Given the description of an element on the screen output the (x, y) to click on. 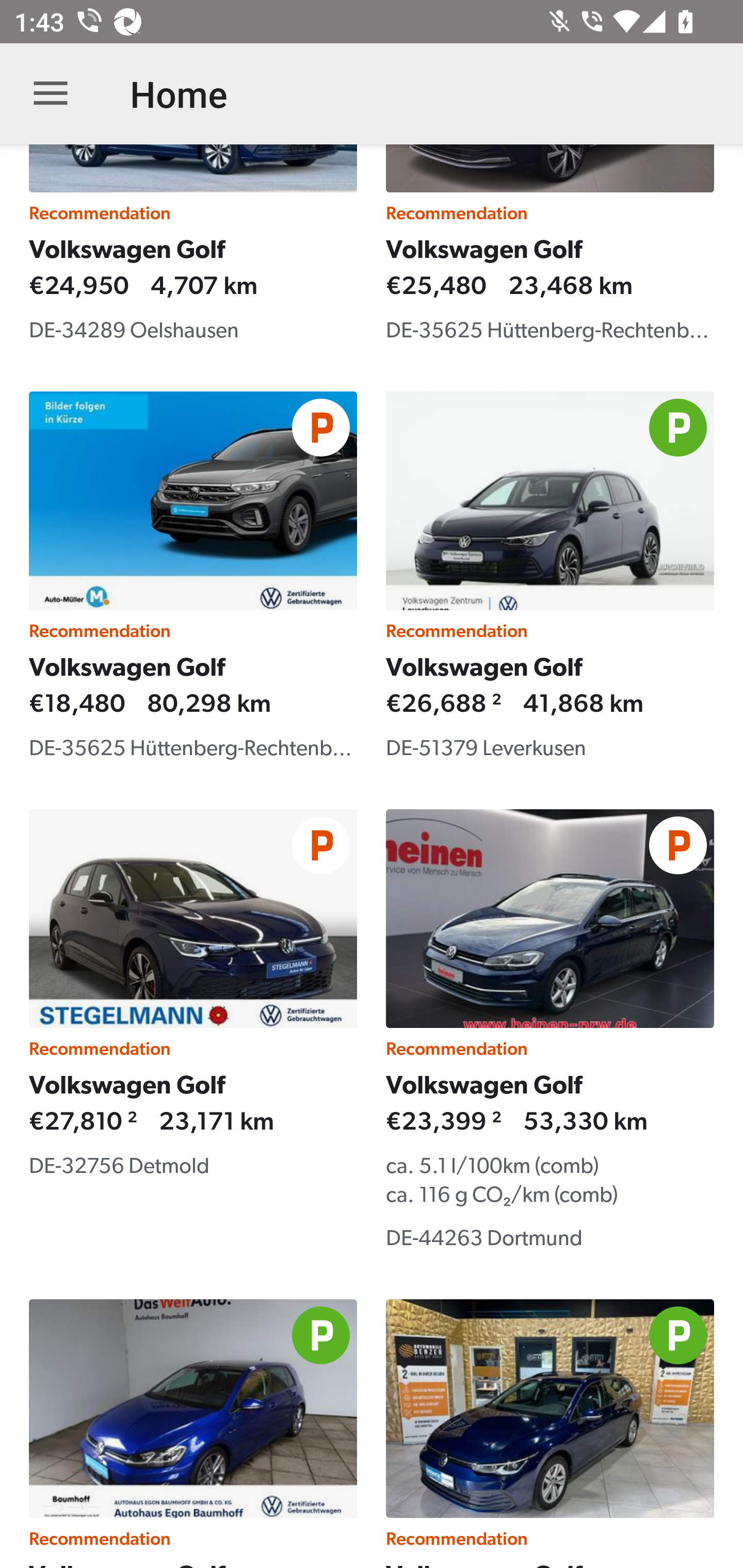
Open navigation bar (50, 93)
Recommendation Volkswagen Golf (192, 1433)
Recommendation Volkswagen Golf (549, 1433)
